Given the description of an element on the screen output the (x, y) to click on. 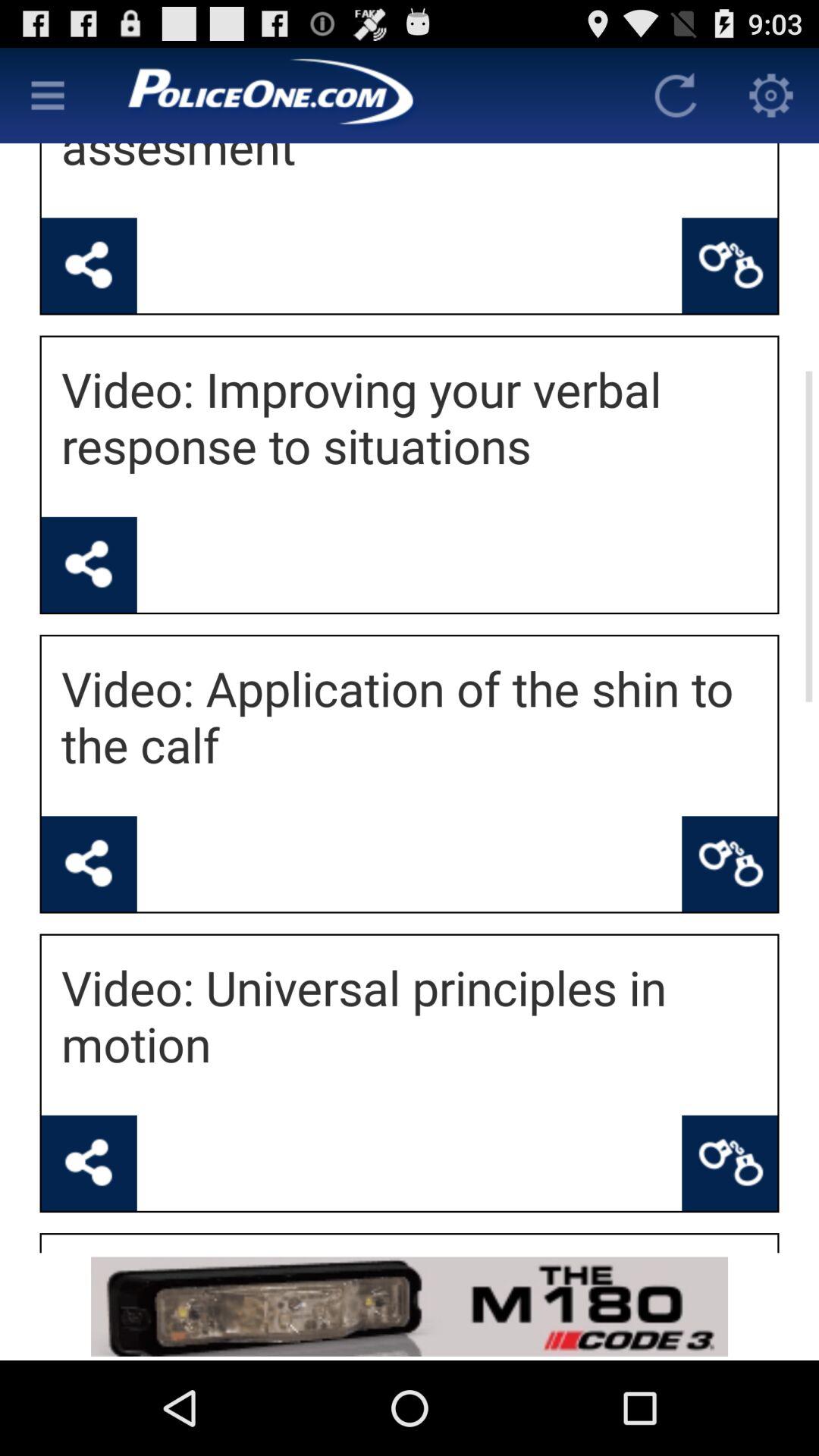
advertisement (409, 1306)
